Given the description of an element on the screen output the (x, y) to click on. 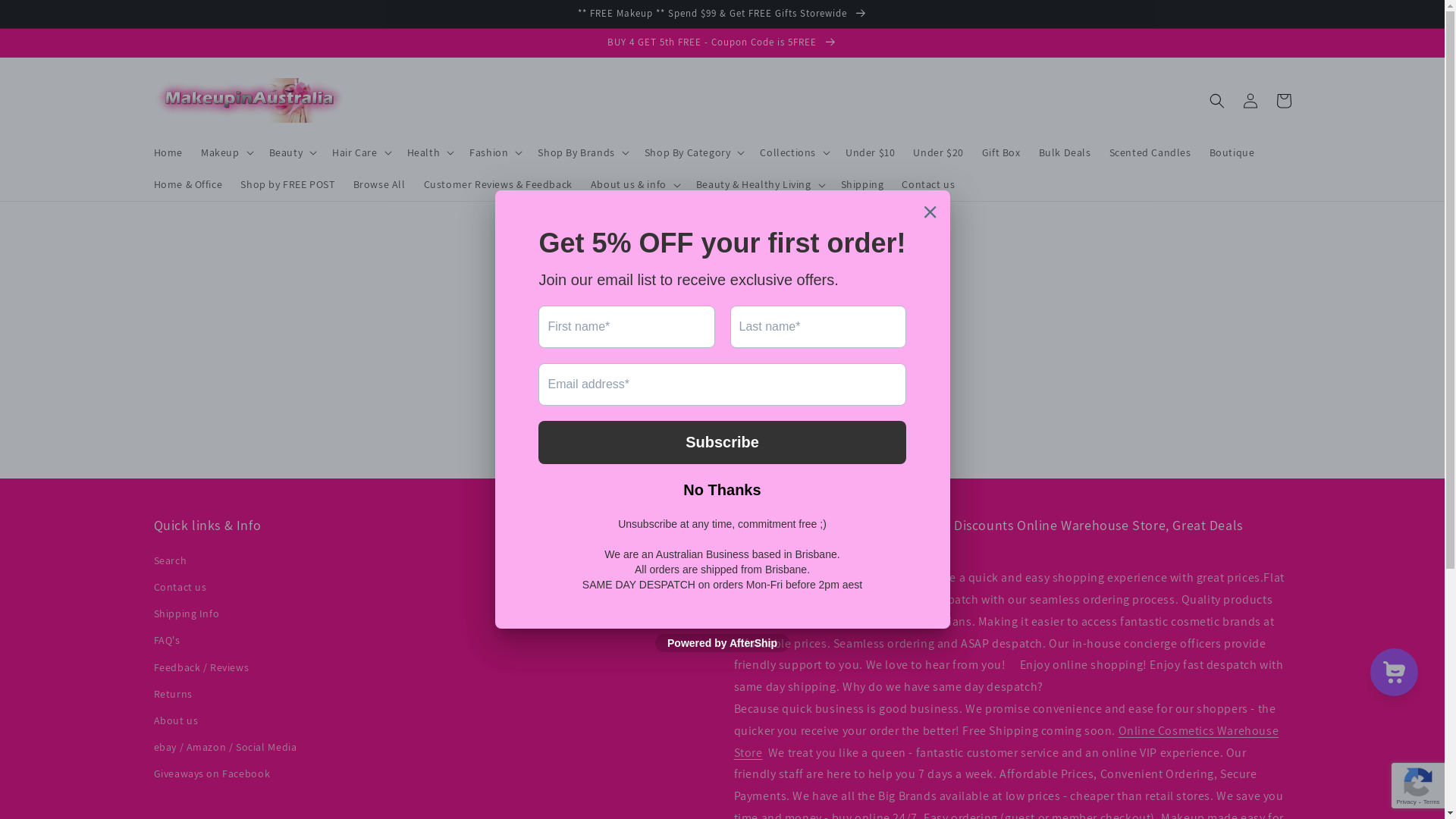
** FREE Makeup ** Spend $99 & Get FREE Gifts Storewide Element type: text (722, 14)
Home & Office Element type: text (187, 184)
Search Element type: text (169, 562)
Cart Element type: text (1282, 100)
Under $10 Element type: text (869, 152)
FAQ's Element type: text (166, 640)
Online Cosmetics Warehouse Store Element type: text (1006, 741)
Shipping Element type: text (862, 184)
Shipping Info Element type: text (186, 613)
Scented Candles Element type: text (1150, 152)
Continue shopping Element type: text (722, 408)
BUY 4 GET 5th FREE - Coupon Code is 5FREE Element type: text (722, 42)
Log in Element type: text (1249, 100)
Returns Element type: text (172, 693)
About us Element type: text (175, 720)
Giveaways on Facebook Element type: text (211, 773)
Contact us Element type: text (927, 184)
Gift Box Element type: text (1000, 152)
ebay / Amazon / Social Media Element type: text (224, 747)
Bulk Deals Element type: text (1064, 152)
Customer Reviews & Feedback Element type: text (497, 184)
Boutique Element type: text (1232, 152)
Contact us Element type: text (179, 587)
Shop by FREE POST Element type: text (287, 184)
Browse All Element type: text (379, 184)
Under $20 Element type: text (937, 152)
Home Element type: text (167, 152)
Feedback / Reviews Element type: text (200, 667)
